Given the description of an element on the screen output the (x, y) to click on. 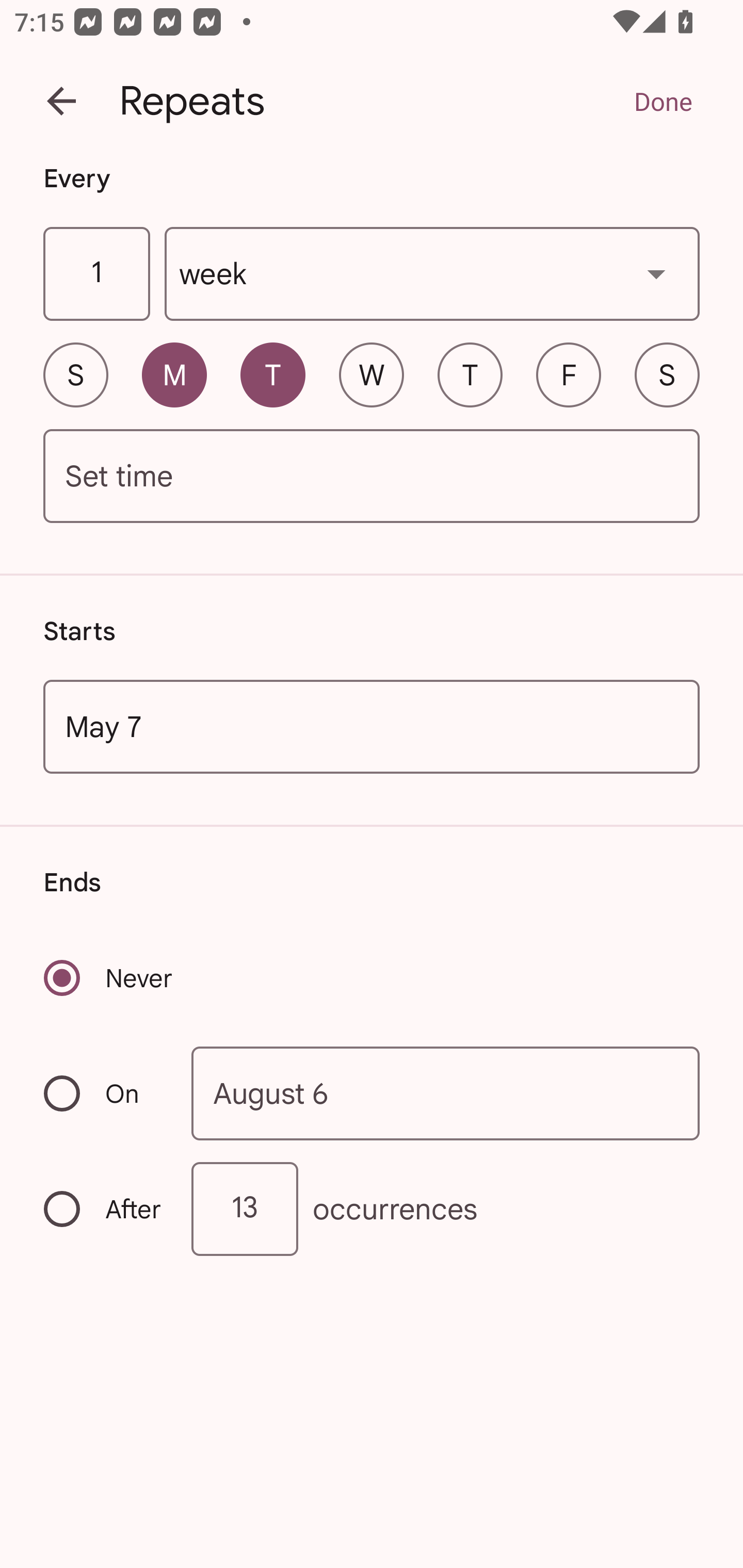
Back (61, 101)
Done (663, 101)
1 (96, 274)
week (431, 274)
Show dropdown menu (655, 273)
S Sunday (75, 374)
M Monday, selected (173, 374)
T Tuesday, selected (272, 374)
W Wednesday (371, 374)
T Thursday (469, 374)
F Friday (568, 374)
S Saturday (666, 374)
Set time (371, 476)
May 7 (371, 726)
Never Recurrence never ends (109, 978)
August 6 (445, 1092)
On Recurrence ends on a specific date (104, 1093)
13 (244, 1208)
